Given the description of an element on the screen output the (x, y) to click on. 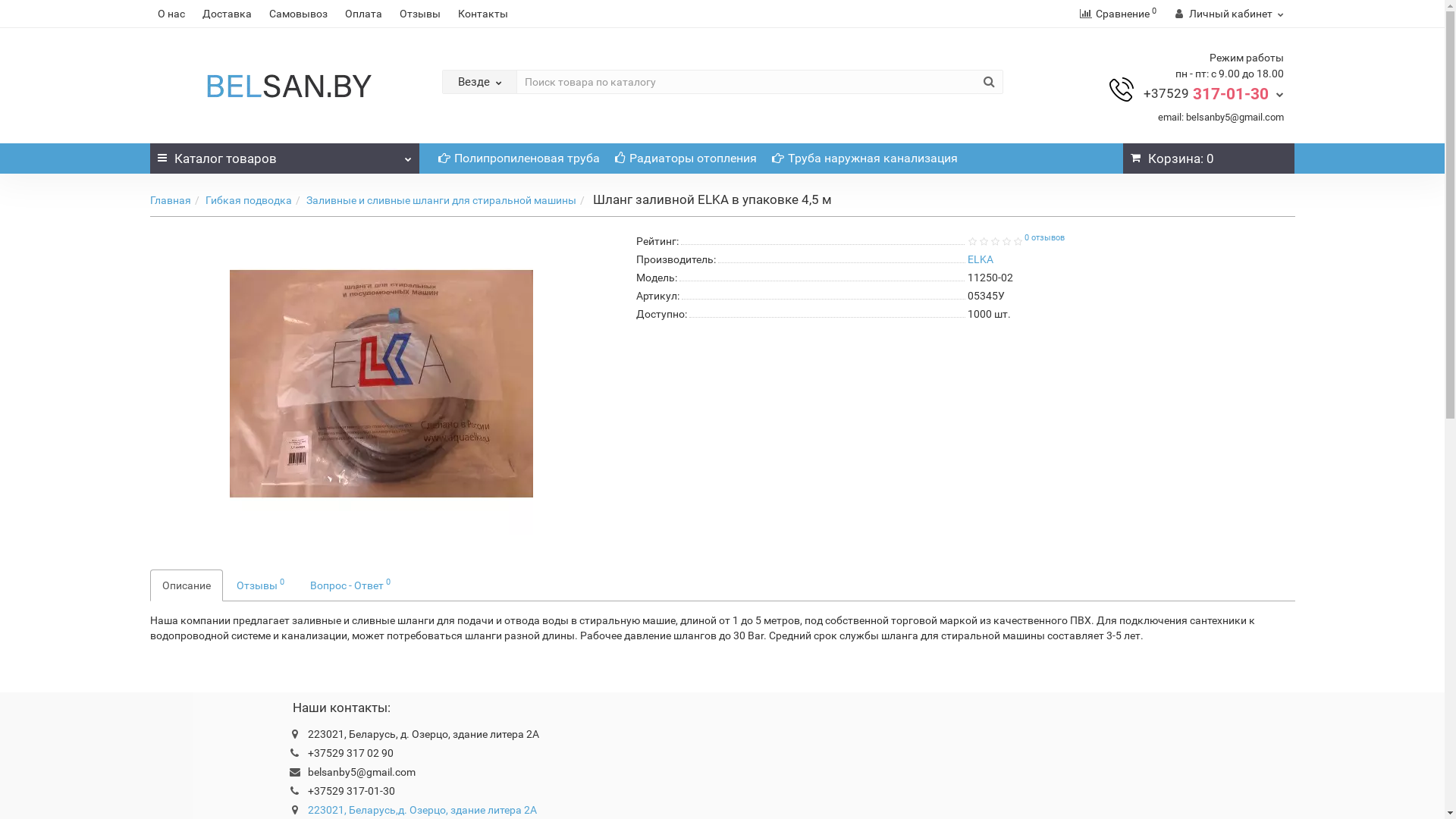
ELKA Element type: text (980, 259)
belsan.by Element type: hover (284, 84)
+37529 317-01-30 Element type: text (1213, 92)
